Given the description of an element on the screen output the (x, y) to click on. 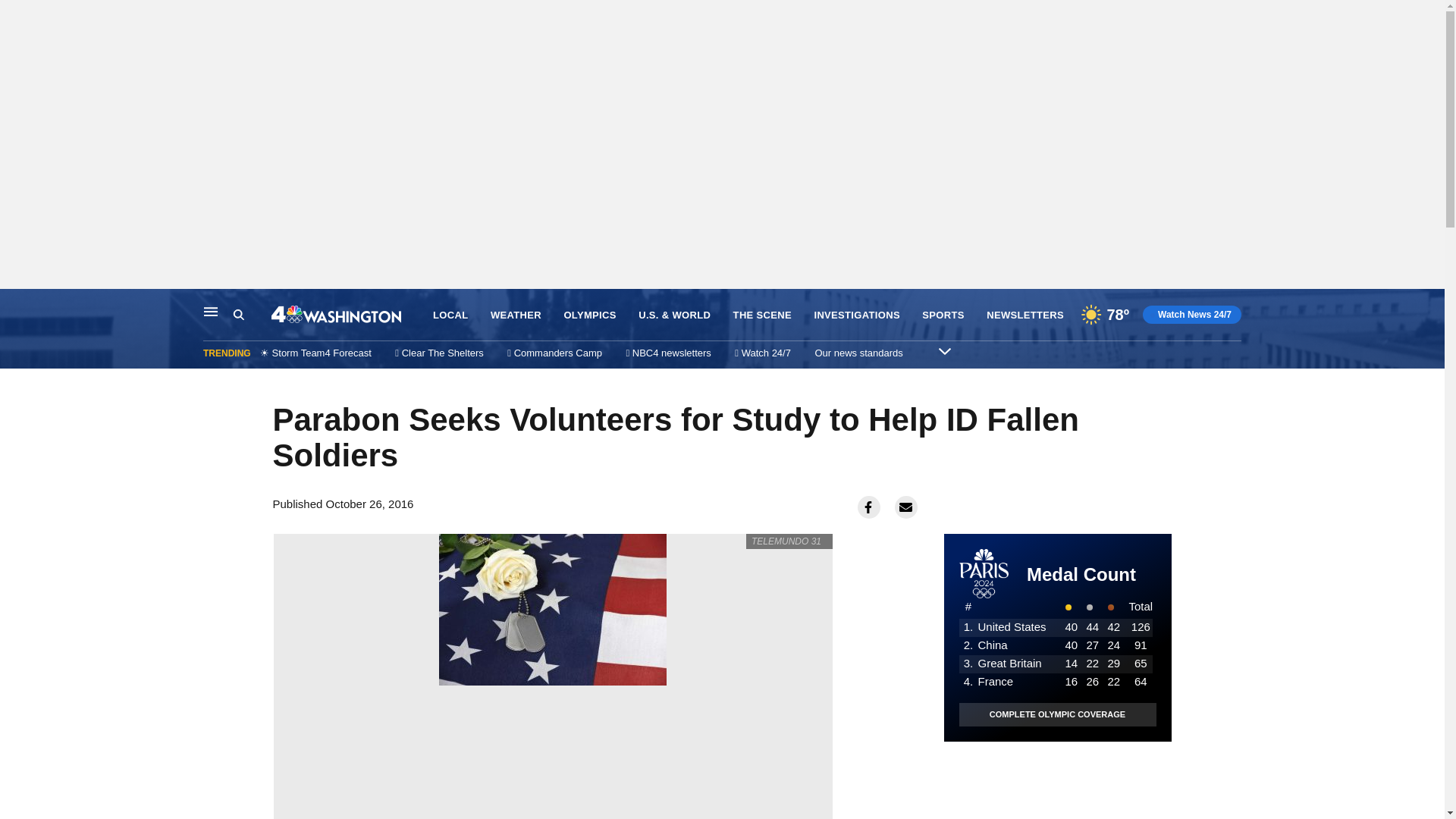
LOCAL (449, 315)
OLYMPICS (589, 315)
THE SCENE (762, 315)
Skip to content (16, 304)
Main Navigation (210, 311)
WEATHER (515, 315)
3rd party ad content (1056, 780)
SPORTS (942, 315)
COMPLETE OLYMPIC COVERAGE (1057, 714)
